Given the description of an element on the screen output the (x, y) to click on. 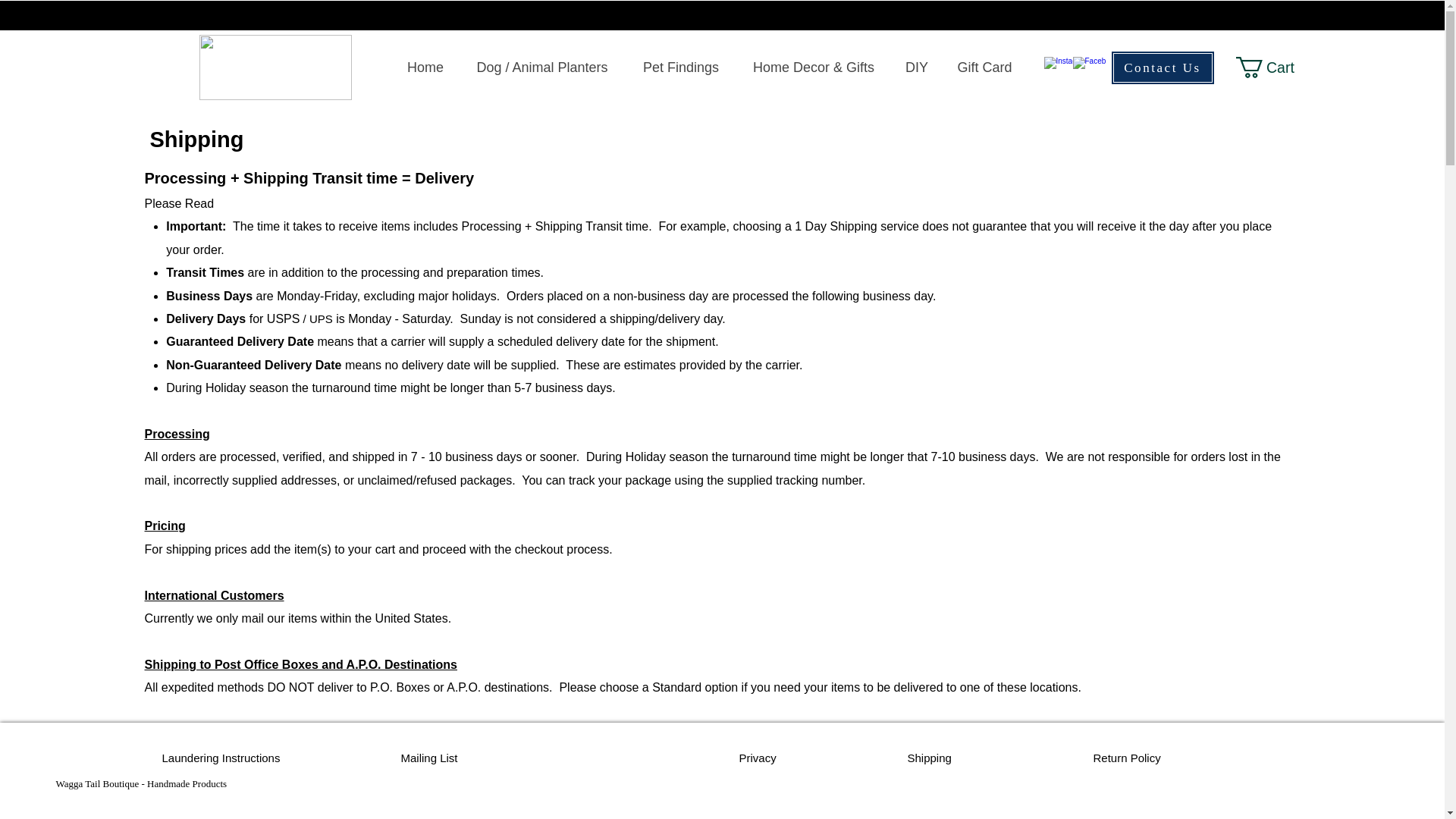
Laundering Instructions (221, 758)
Return Policy (1126, 758)
Cart (1276, 66)
Cart (1276, 66)
Gift Card (984, 67)
Mailing List (428, 758)
Privacy (757, 758)
Contact Us (1161, 67)
Shipping (928, 758)
Home (425, 67)
Pet Findings (680, 67)
DIY (915, 67)
